Given the description of an element on the screen output the (x, y) to click on. 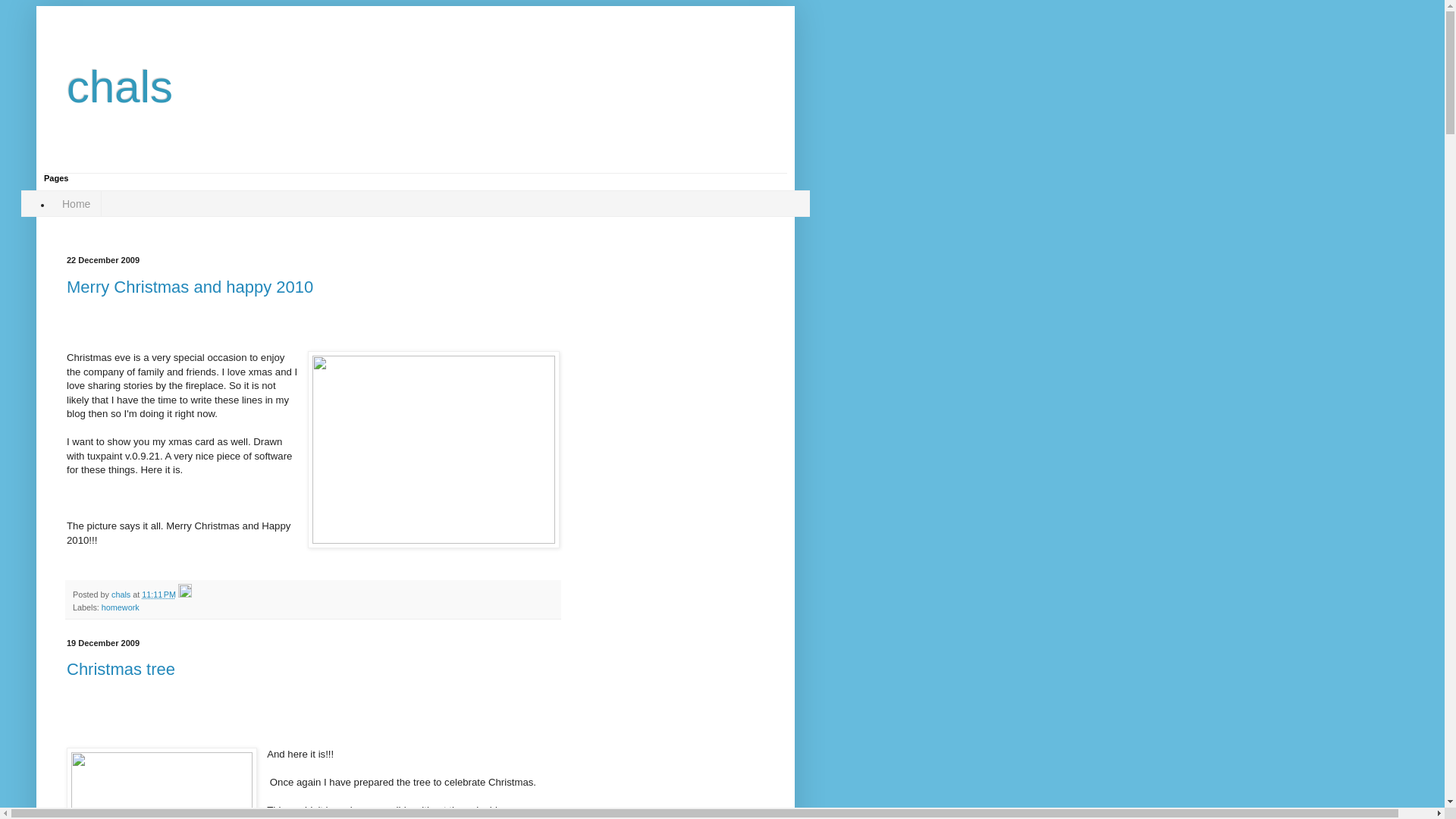
permanent link (158, 593)
Christmas tree (120, 669)
Merry Christmas and happy 2010 (189, 286)
homework (120, 606)
chals (122, 593)
chals (119, 86)
author profile (122, 593)
Edit Post (184, 593)
Home (75, 203)
